Given the description of an element on the screen output the (x, y) to click on. 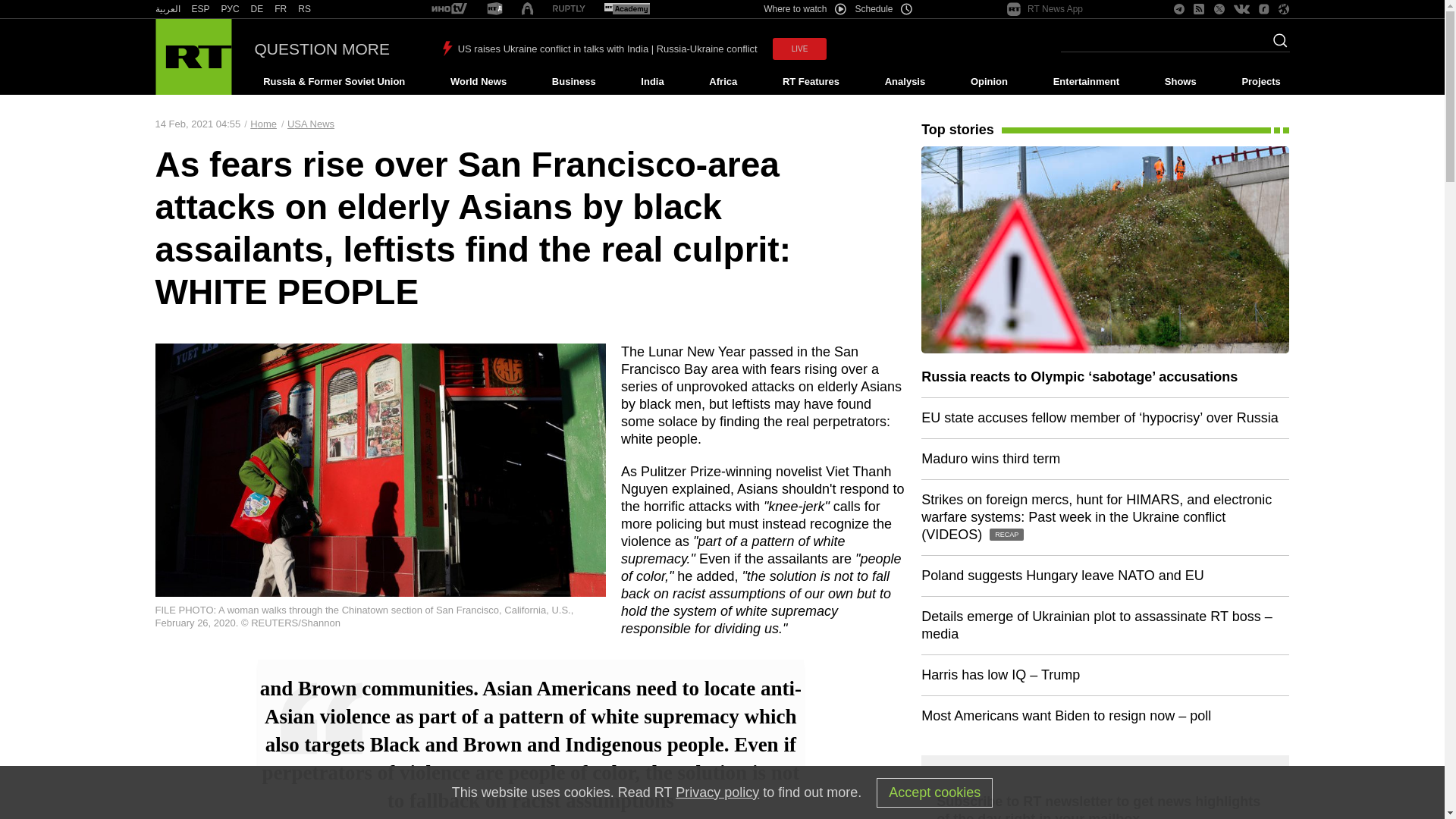
RT  (304, 9)
Where to watch (803, 9)
India (651, 81)
LIVE (800, 48)
Search (1276, 44)
Analysis (905, 81)
RT News App (1045, 9)
Search (1276, 44)
DE (256, 9)
World News (478, 81)
Entertainment (1085, 81)
RT Features (810, 81)
RT  (494, 9)
RT  (230, 9)
FR (280, 9)
